Given the description of an element on the screen output the (x, y) to click on. 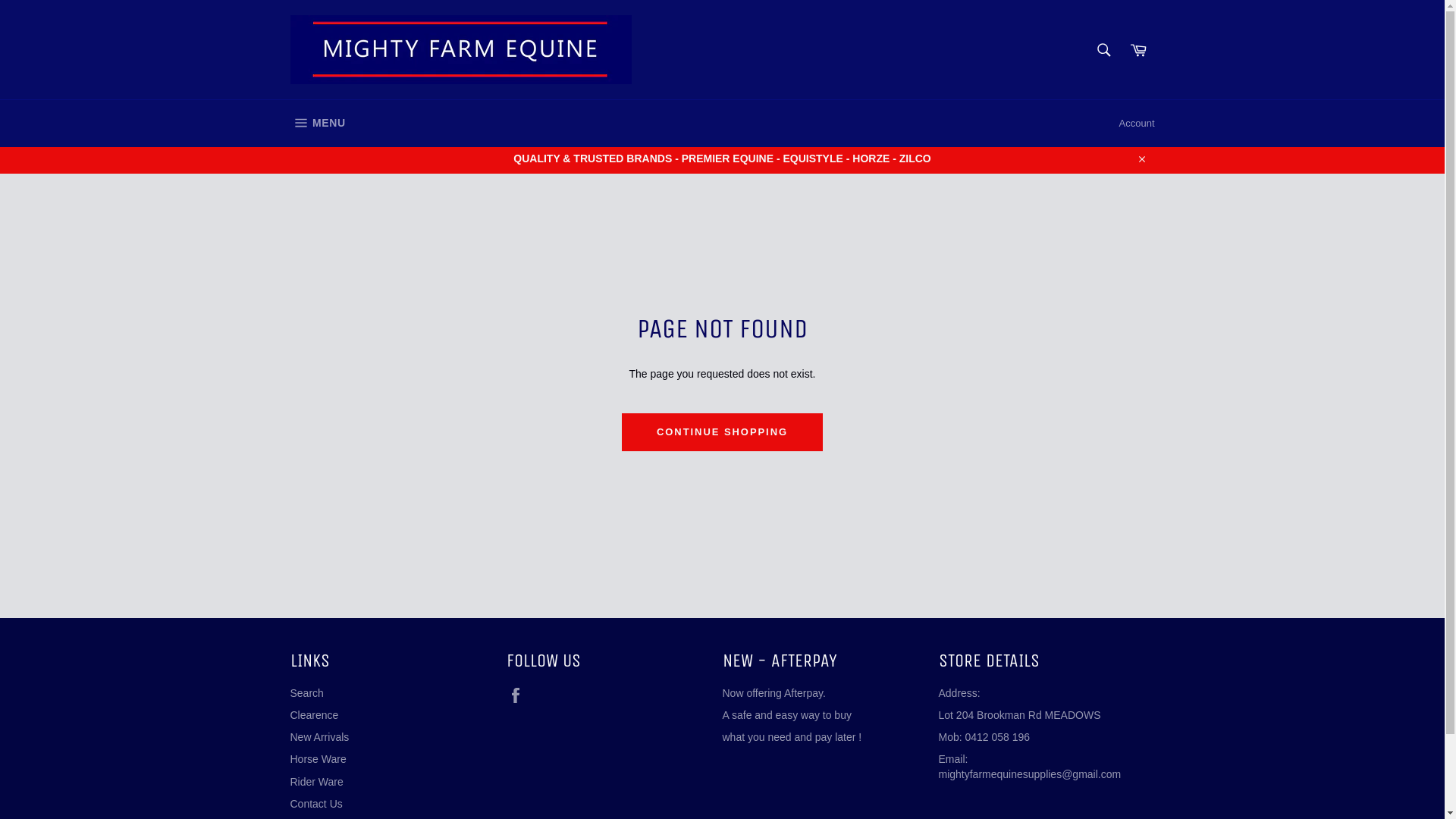
Horse Ware Element type: text (317, 759)
MENU
SITE NAVIGATION Element type: text (317, 123)
Facebook Element type: text (519, 695)
mightyfarmequinesupplies@gmail.com Element type: text (1029, 774)
Cart Element type: text (1138, 49)
New Arrivals Element type: text (318, 737)
Contact Us Element type: text (315, 803)
Search Element type: text (1102, 49)
Account Element type: text (1136, 123)
Rider Ware Element type: text (315, 781)
Clearence Element type: text (313, 715)
Search Element type: text (306, 693)
CONTINUE SHOPPING Element type: text (721, 432)
Close Element type: text (1140, 158)
